Given the description of an element on the screen output the (x, y) to click on. 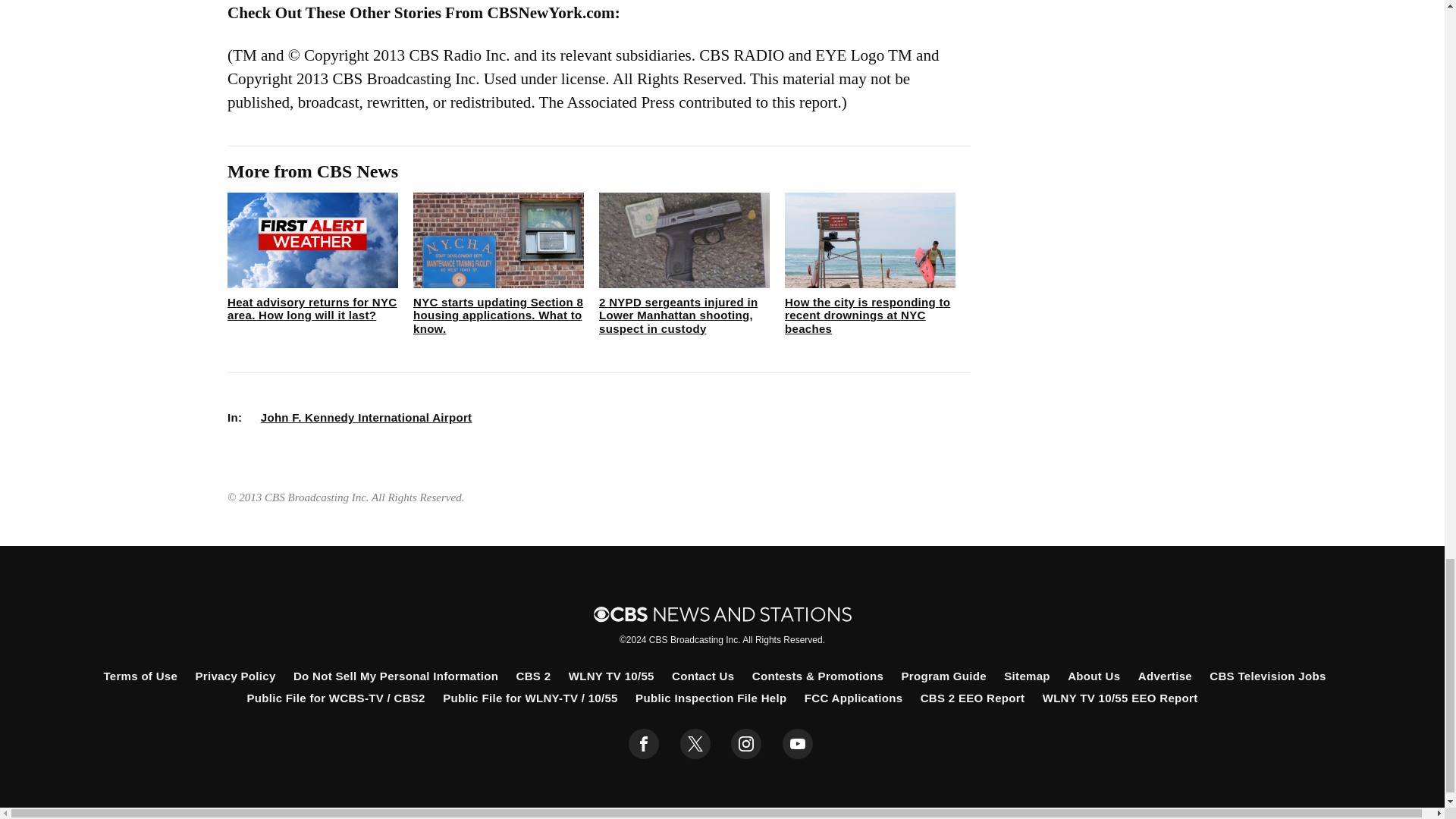
instagram (745, 743)
facebook (643, 743)
youtube (797, 743)
twitter (694, 743)
